Given the description of an element on the screen output the (x, y) to click on. 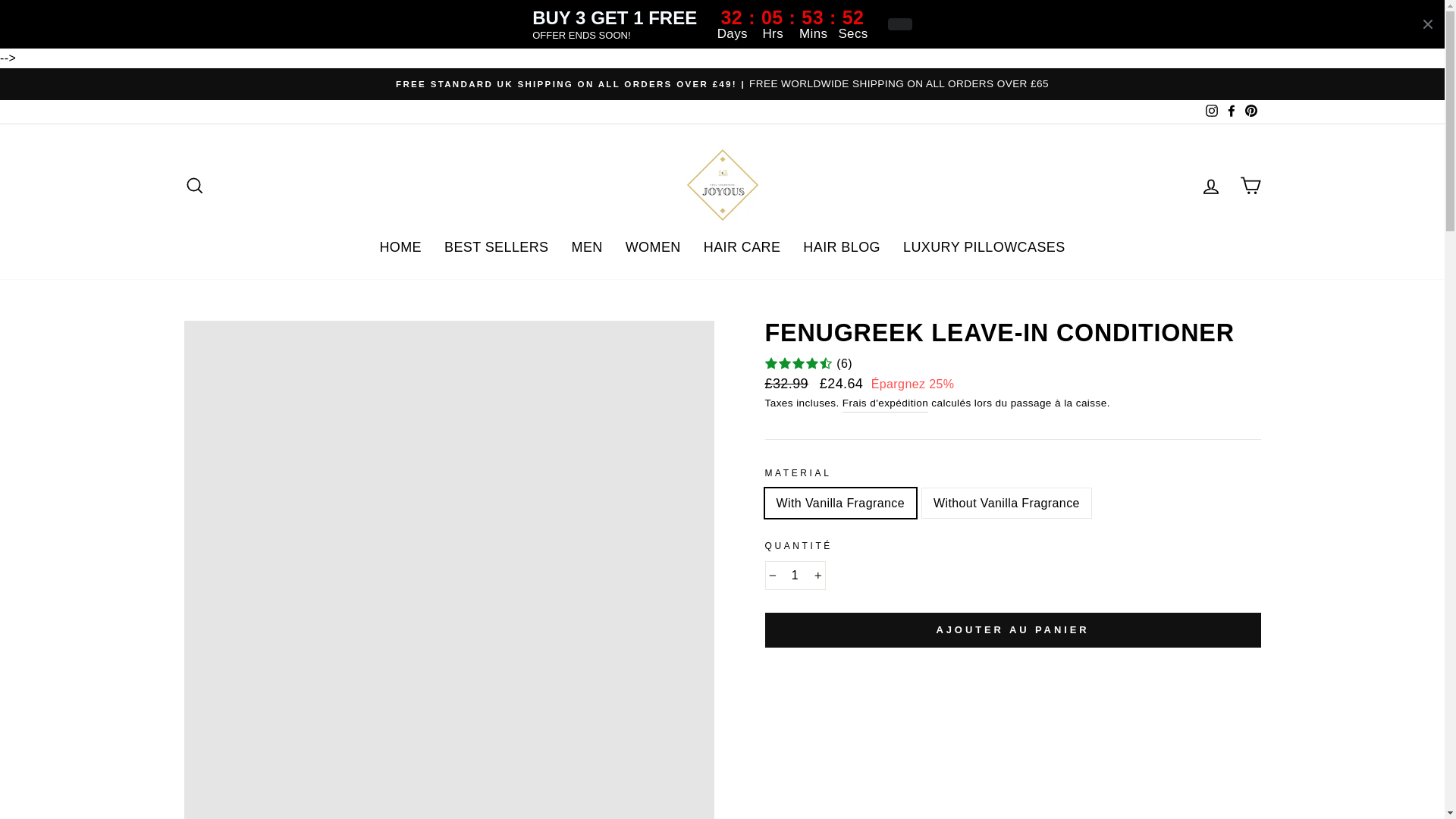
1 (794, 575)
Rechercher (194, 184)
